Given the description of an element on the screen output the (x, y) to click on. 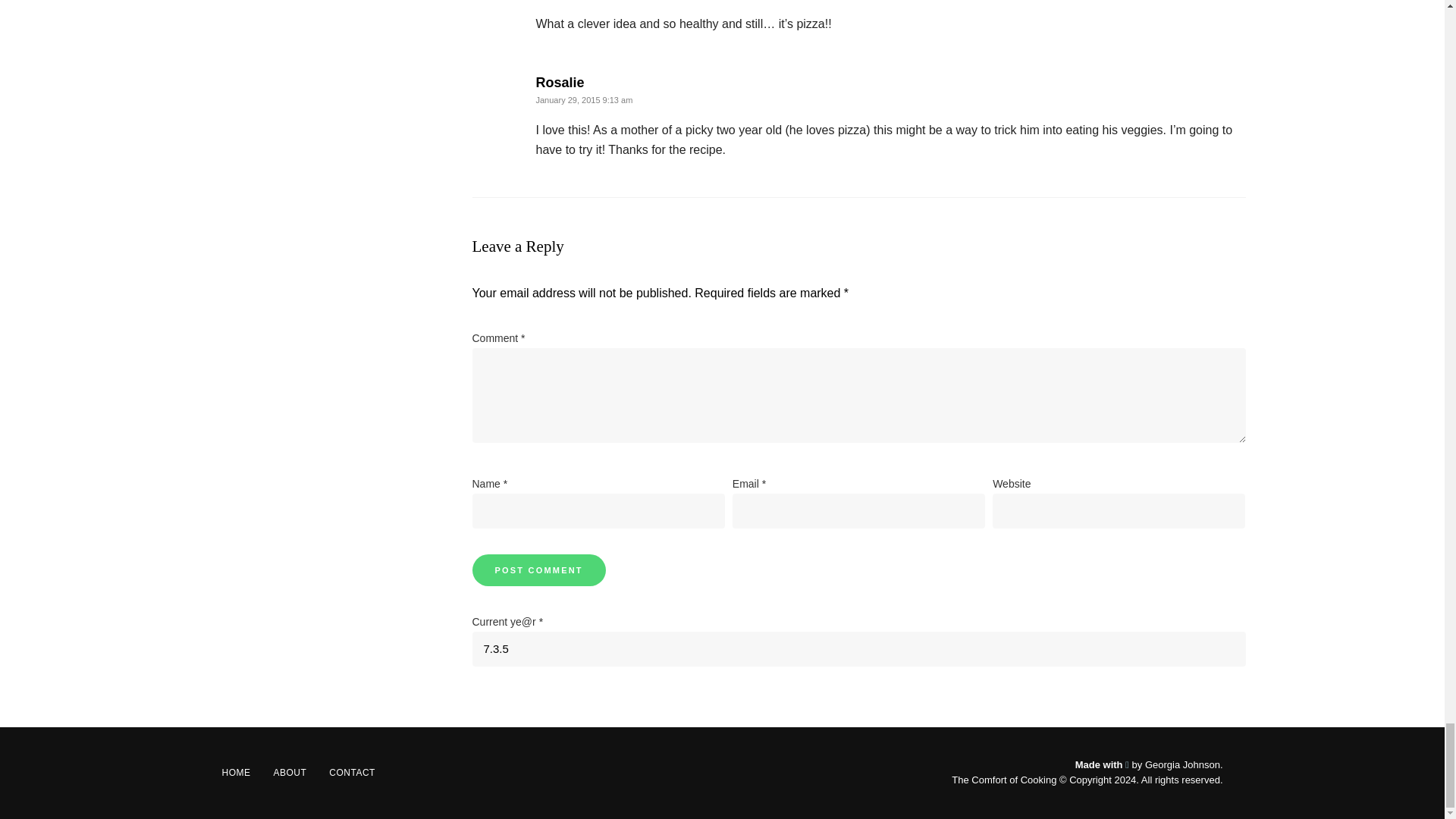
Post Comment (538, 570)
7.3.5 (857, 647)
